Given the description of an element on the screen output the (x, y) to click on. 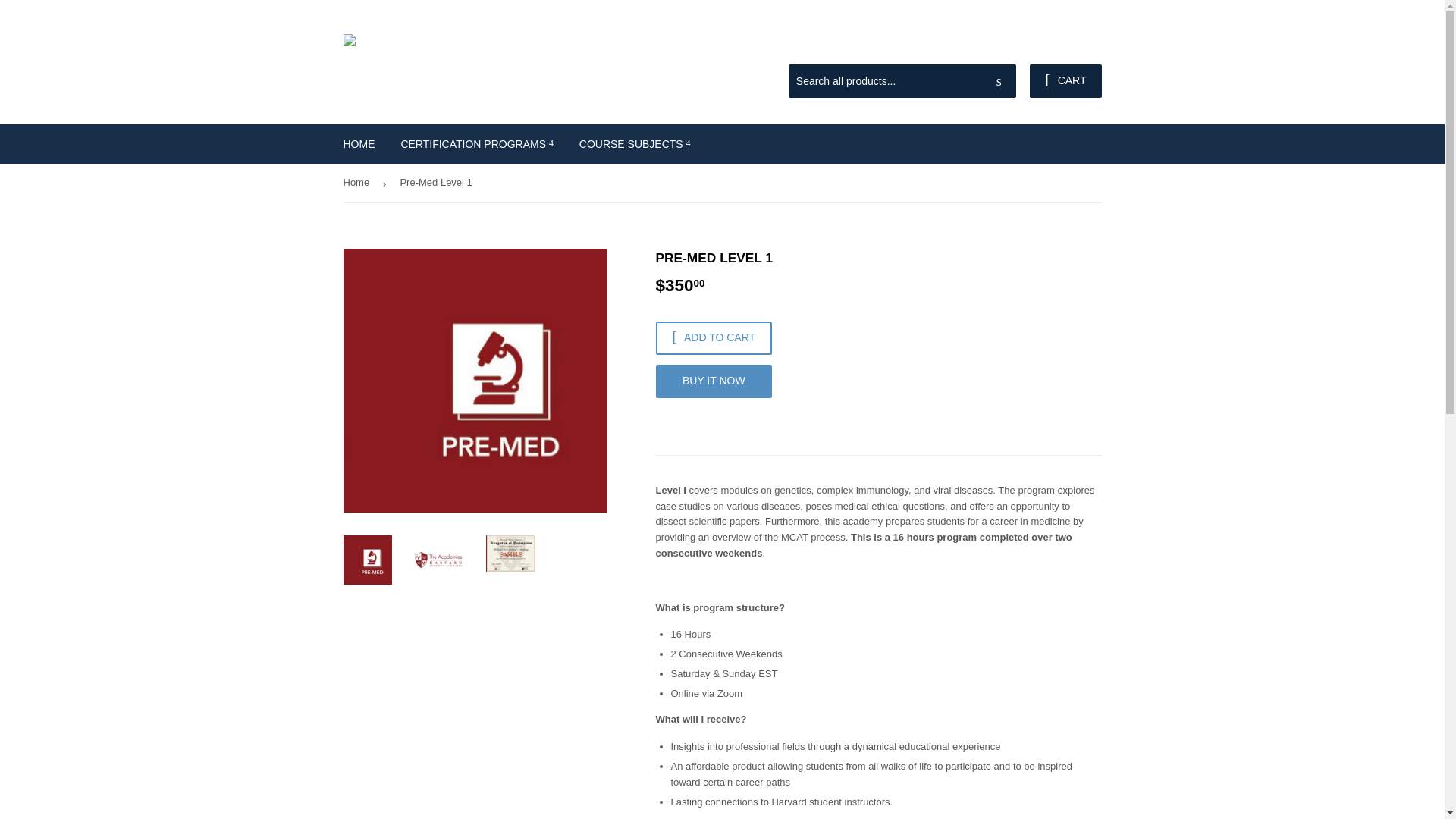
Search (998, 81)
CERTIFICATION PROGRAMS (476, 143)
HOME (359, 143)
CART (1064, 80)
